Given the description of an element on the screen output the (x, y) to click on. 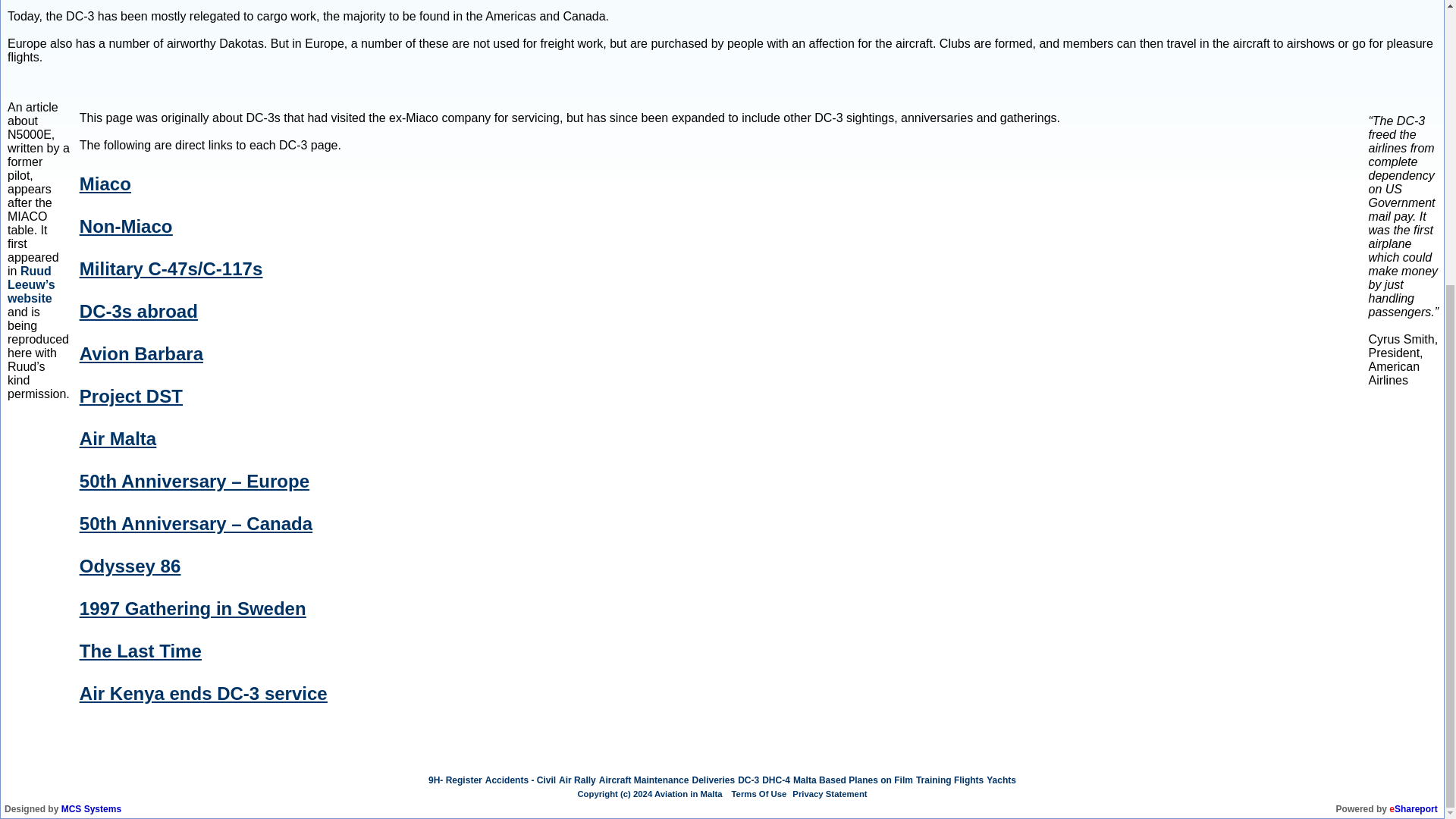
Privacy Statement (829, 793)
eShareport (1413, 808)
MCS Systems (90, 808)
Air Kenya ends DC-3 service (203, 693)
DHC-4 (775, 779)
Training Flights (949, 779)
Terms Of Use (759, 793)
The Last Time (141, 650)
Non-Miaco (126, 226)
Air Rally (577, 779)
Odyssey 86 (130, 566)
Aircraft Maintenance (643, 779)
Deliveries (713, 779)
Accidents - Civil (520, 779)
9H- Register (454, 779)
